Given the description of an element on the screen output the (x, y) to click on. 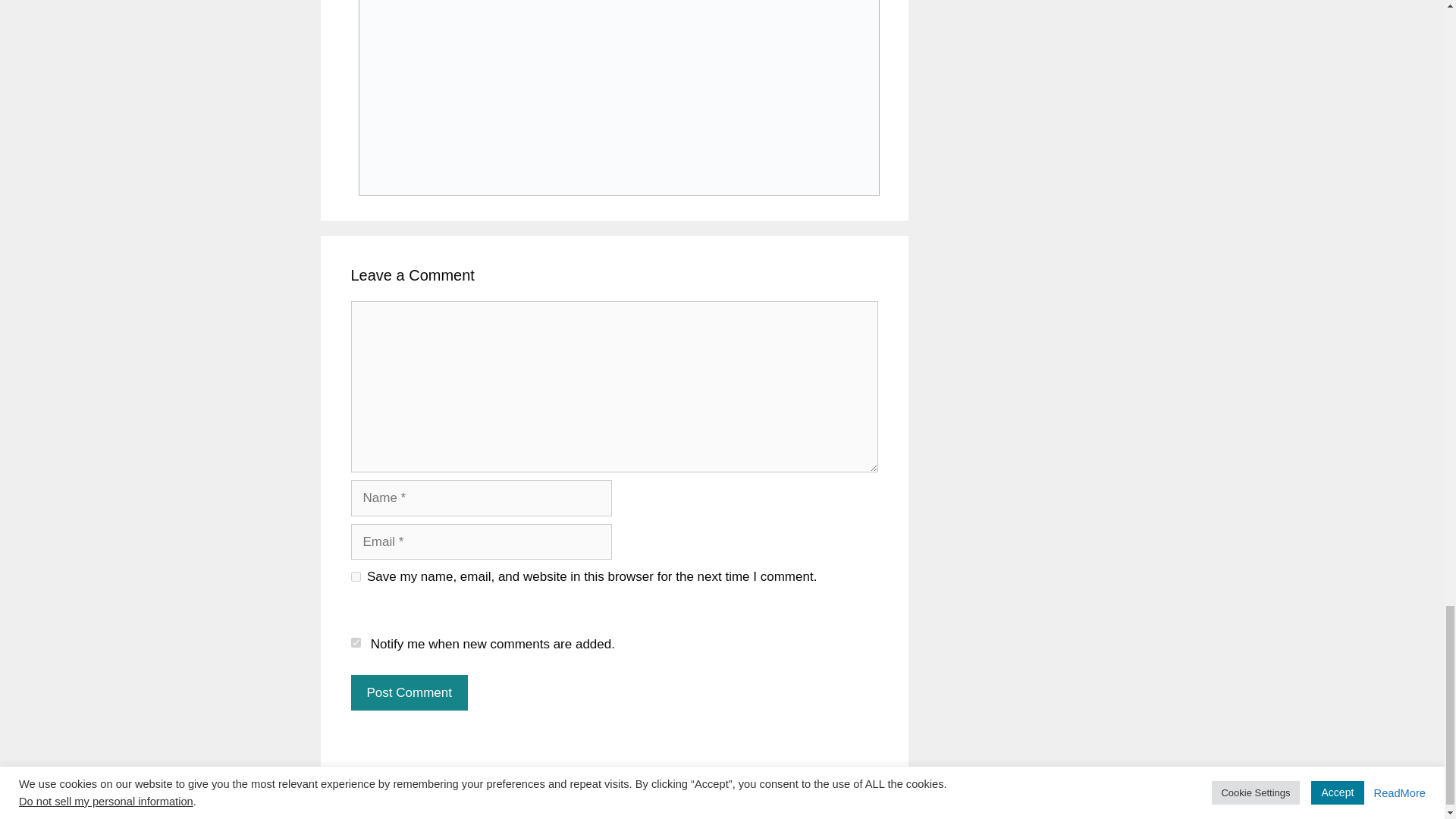
Post Comment (408, 692)
yes (354, 576)
1 (354, 642)
